Given the description of an element on the screen output the (x, y) to click on. 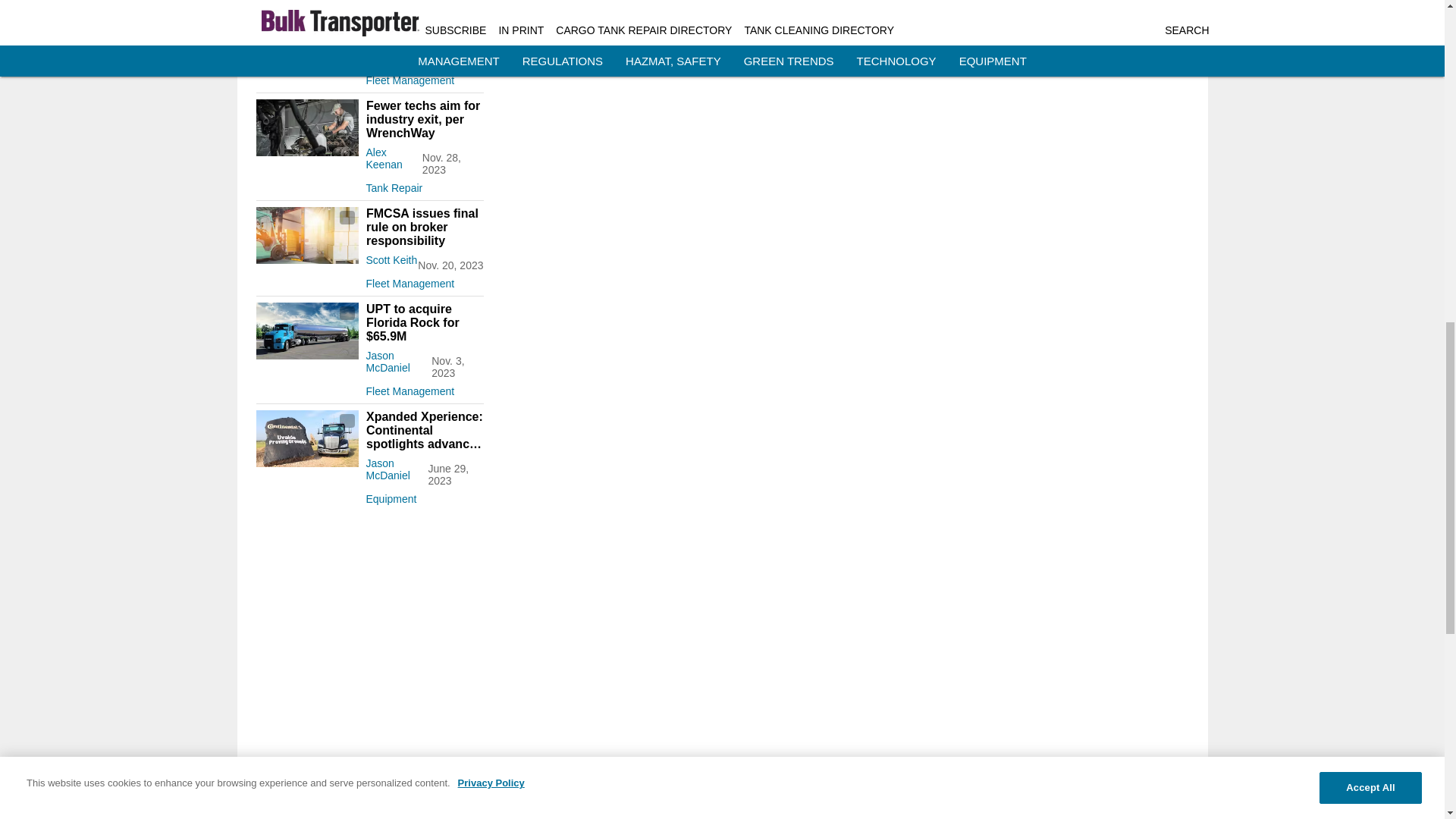
Jade Brasher (384, 50)
Scott Keith (390, 259)
FMCSA issues final rule on broker responsibility (424, 227)
Fleet Management (424, 76)
Chaos creates trucking challenges in 2023 (424, 16)
Fewer techs aim for industry exit, per WrenchWay (424, 119)
Upt Truck From Release (307, 330)
Fleet Management (424, 280)
Alex Keenan (383, 158)
Tank Repair (424, 185)
